Given the description of an element on the screen output the (x, y) to click on. 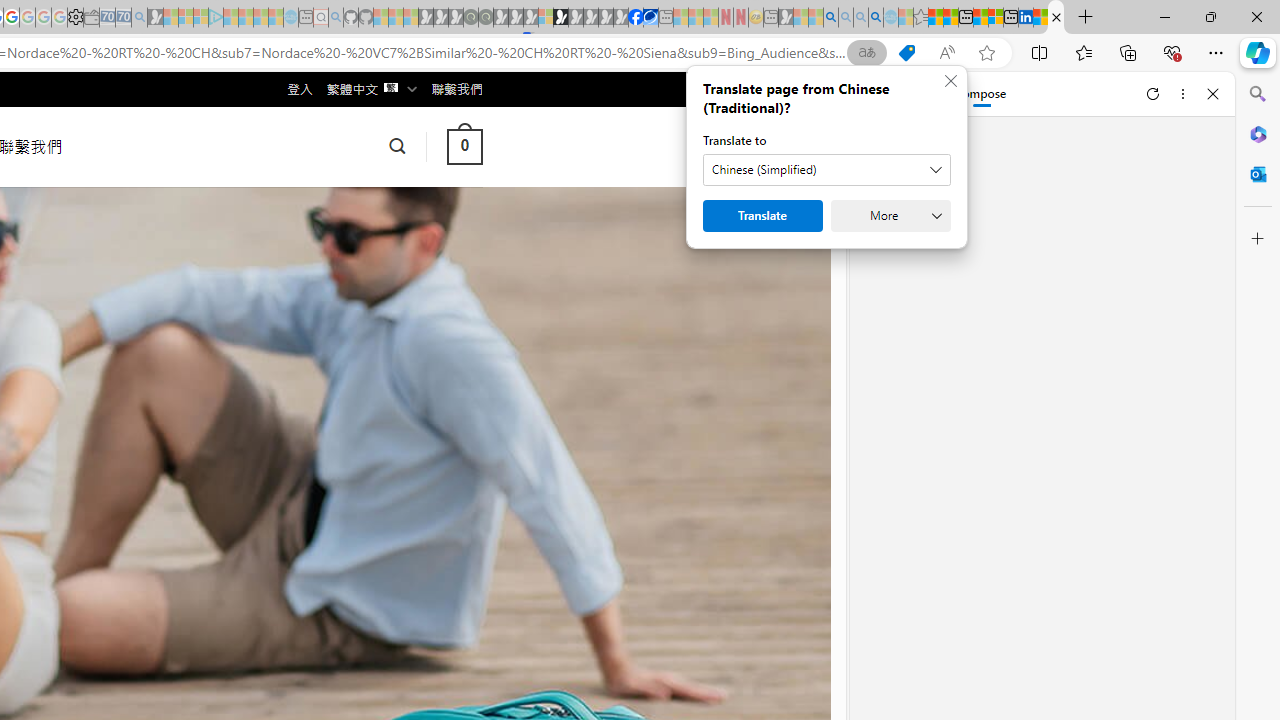
This site has coupons! Shopping in Microsoft Edge (906, 53)
Nordace | Facebook (635, 17)
Favorites - Sleeping (920, 17)
